Given the description of an element on the screen output the (x, y) to click on. 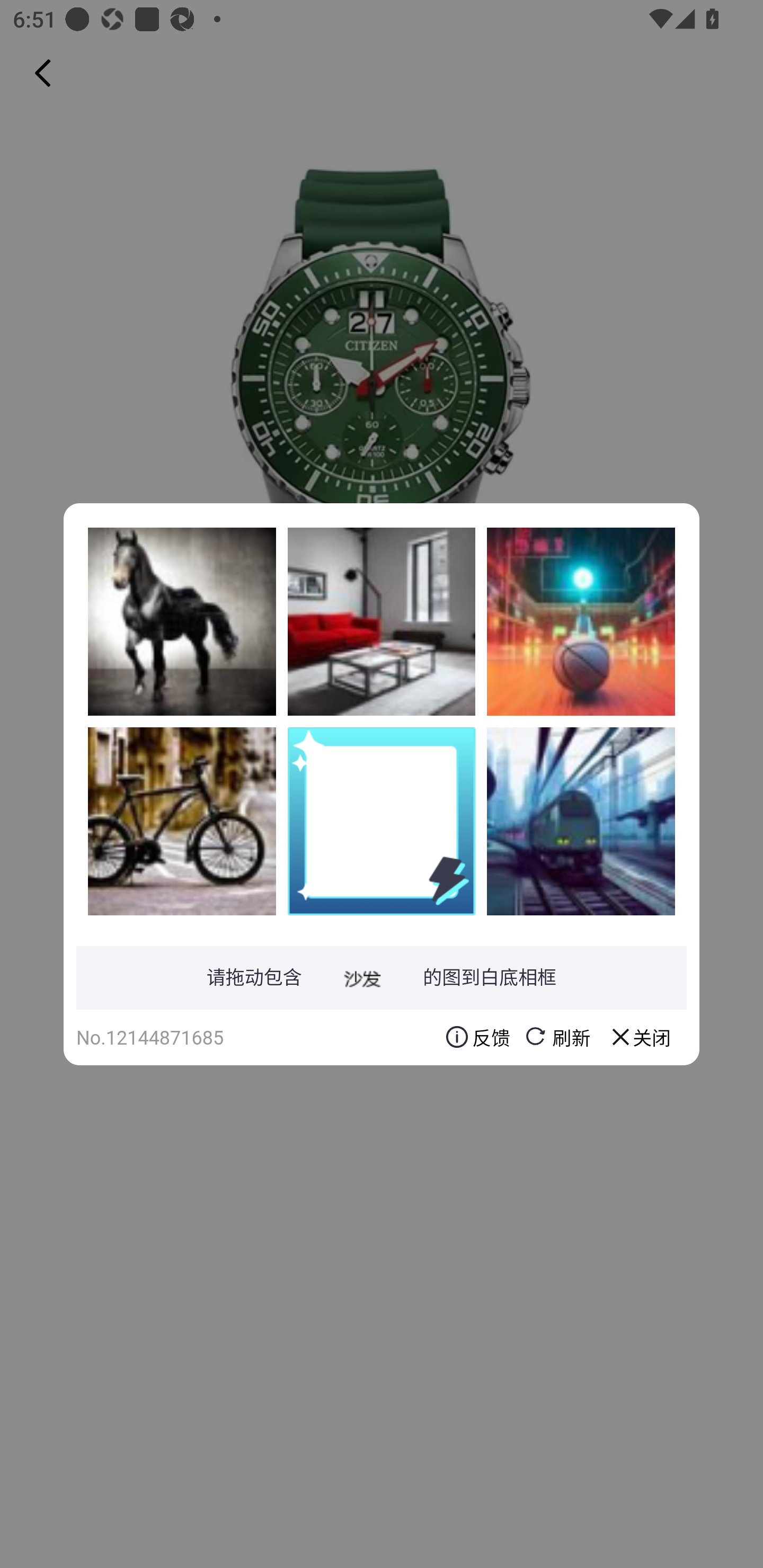
hFHD7iM9oE927H7h41sG+yxJqs0TSomio (181, 621)
MnoxONo (580, 621)
WL0mXXhvC5uIIVuT5sX91Oreat3G3tYprDe (181, 820)
YUNZJMLaDLzqcDJ60+A6 (580, 820)
